Given the description of an element on the screen output the (x, y) to click on. 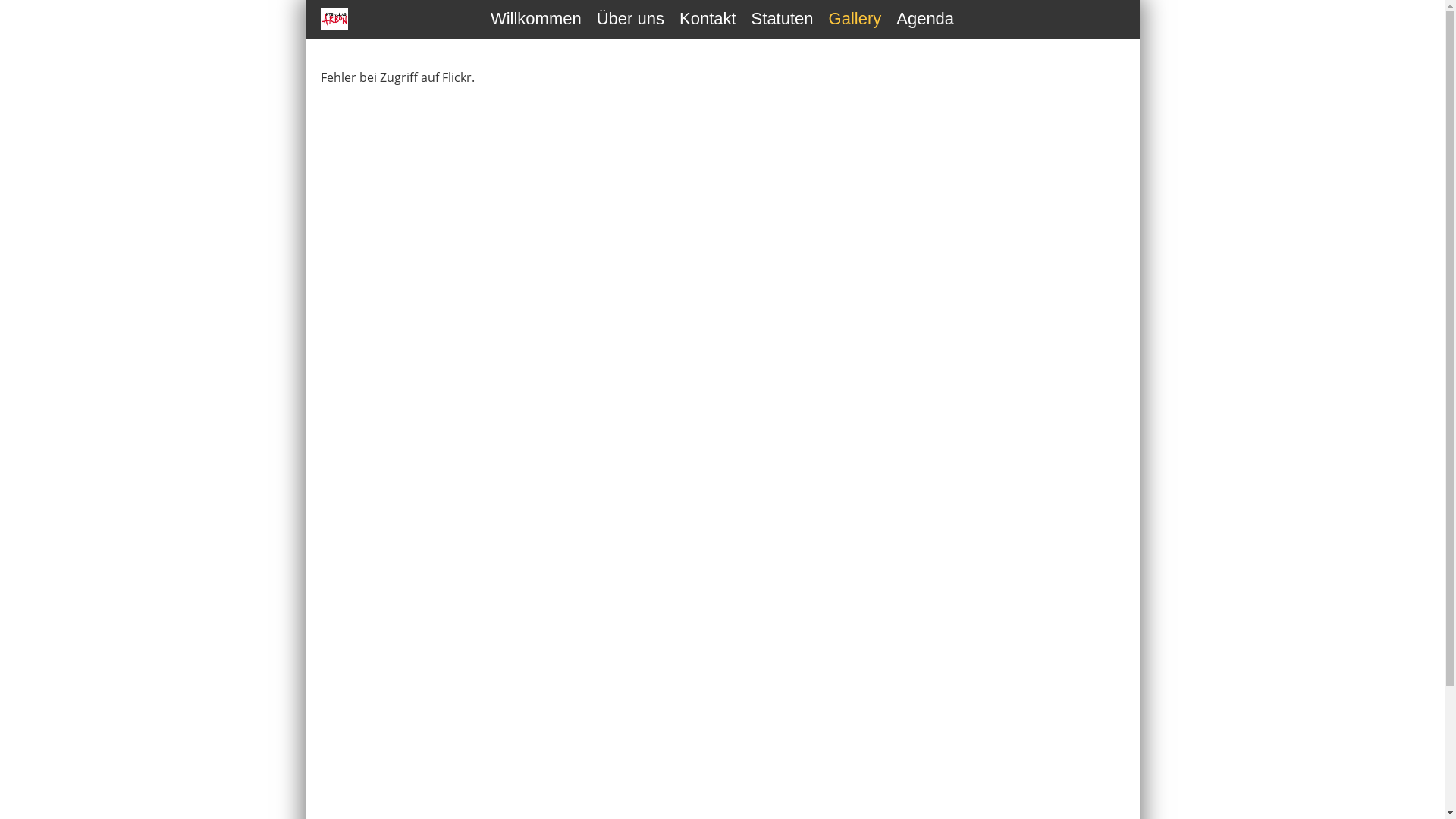
Agenda Element type: text (924, 19)
Kontakt Element type: text (707, 19)
Statuten Element type: text (782, 19)
Gallery Element type: text (855, 19)
Willkommen Element type: text (536, 19)
